Given the description of an element on the screen output the (x, y) to click on. 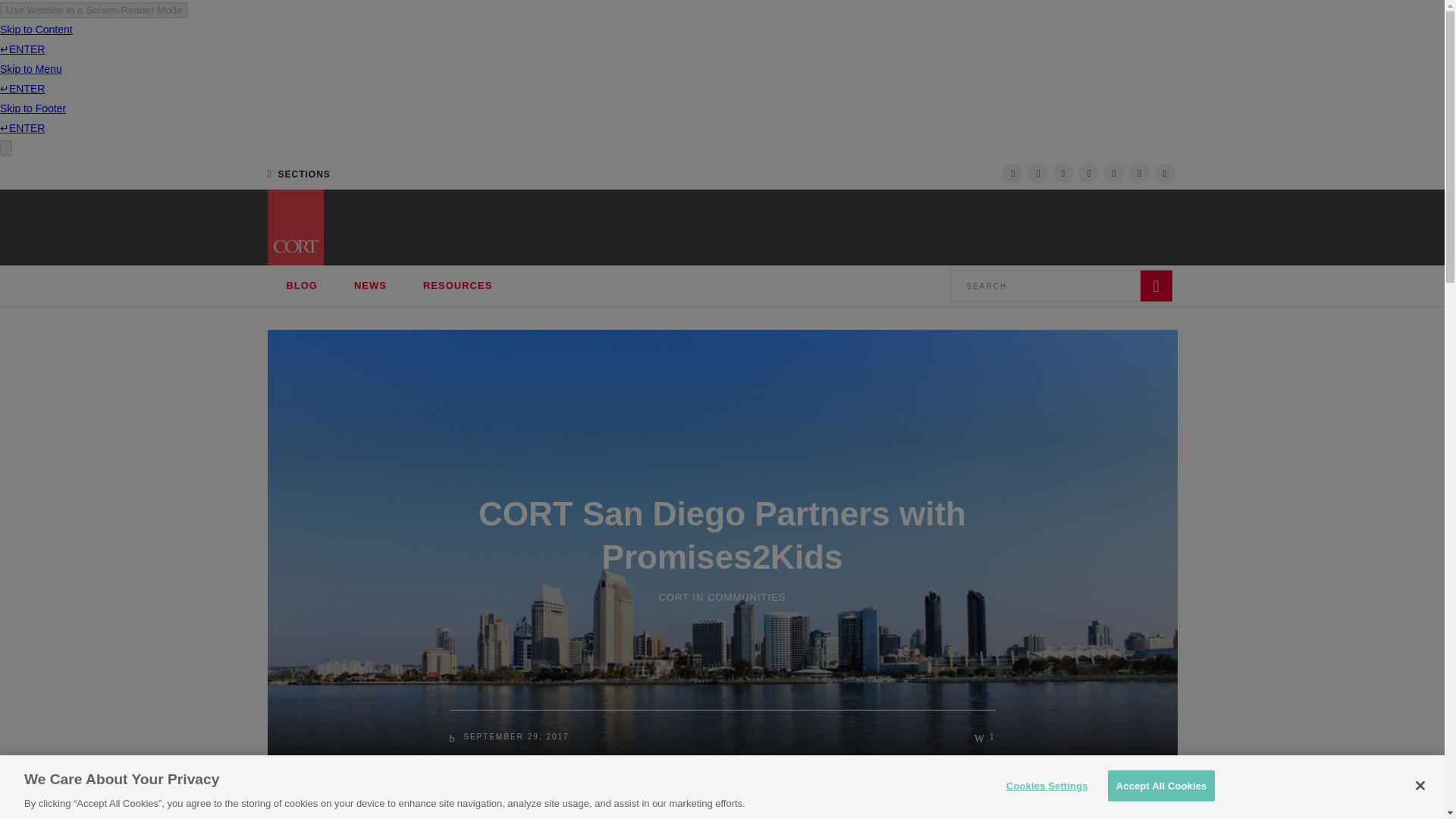
Enter your search term (1045, 286)
SECTIONS (298, 174)
Like this (984, 736)
Submit your search term (1156, 286)
Site search (1061, 286)
BLOG (301, 285)
